Given the description of an element on the screen output the (x, y) to click on. 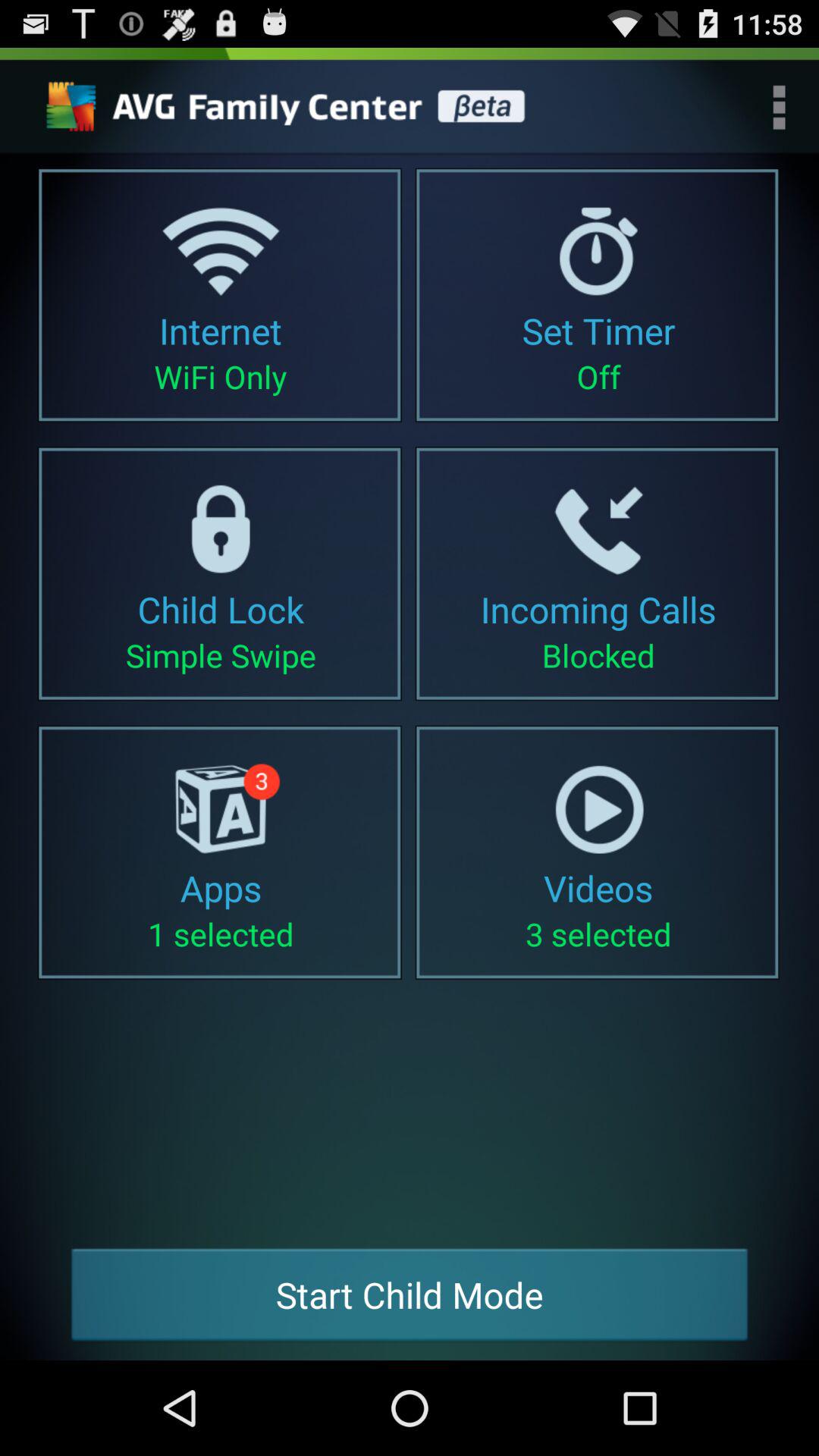
toggle menu (779, 107)
